Given the description of an element on the screen output the (x, y) to click on. 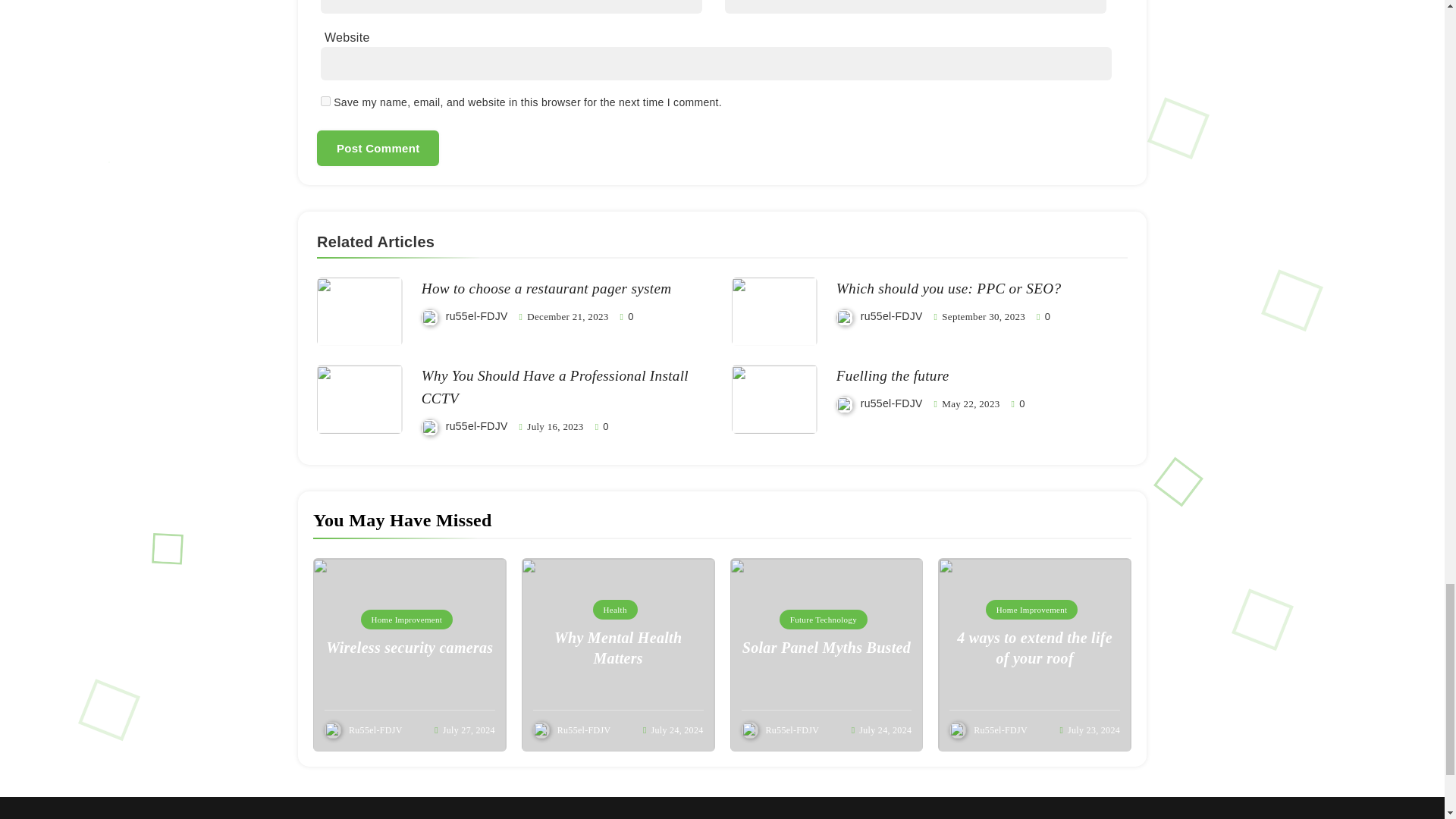
yes (325, 101)
Post Comment (378, 148)
